Given the description of an element on the screen output the (x, y) to click on. 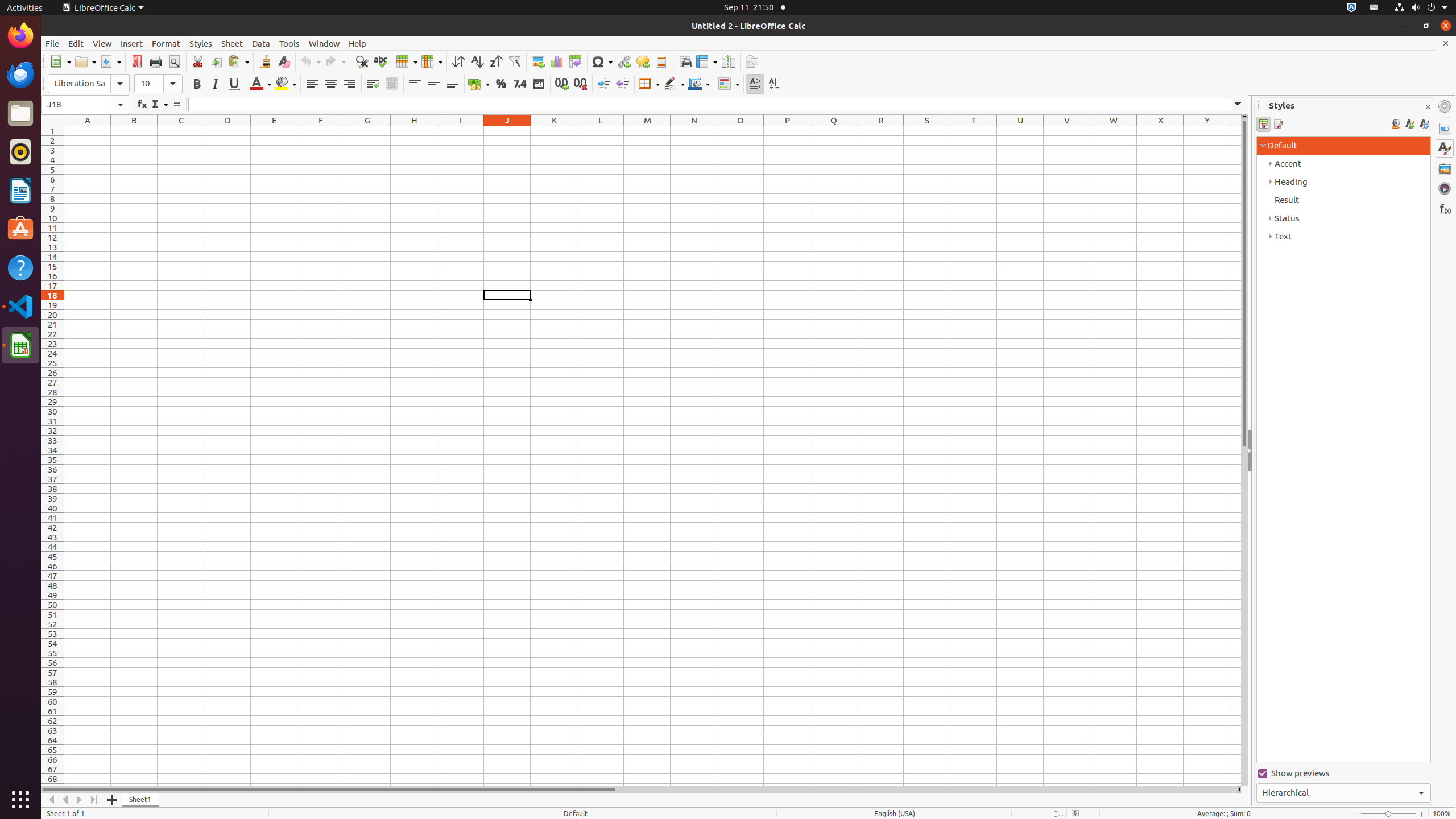
Functions Element type: radio-button (1444, 208)
Image Element type: push-button (537, 61)
